Given the description of an element on the screen output the (x, y) to click on. 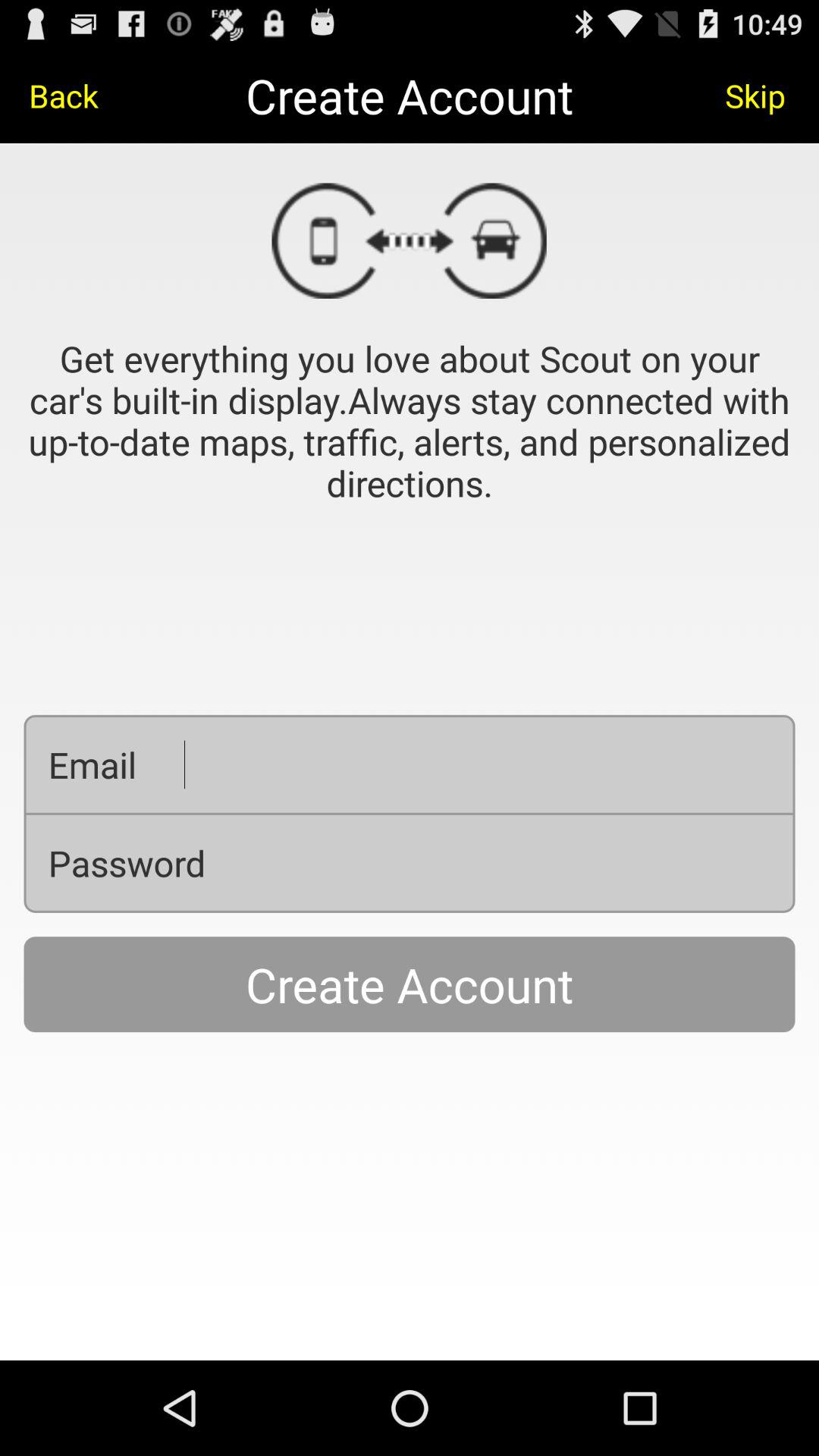
input email (477, 764)
